Given the description of an element on the screen output the (x, y) to click on. 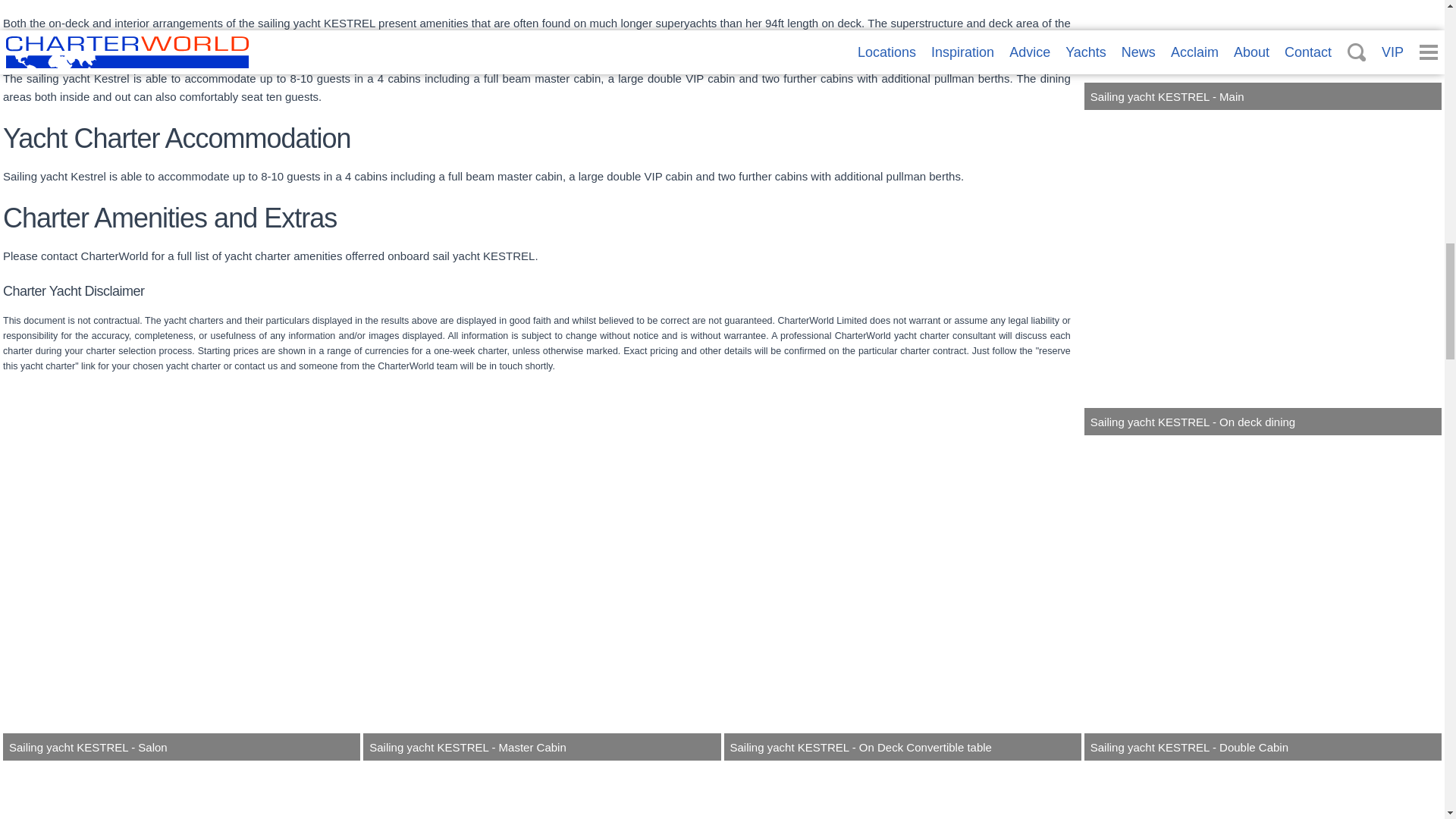
Sailing yacht KESTREL -  Sailing (541, 791)
Sailing yacht KESTREL -  Profile (901, 791)
Sailing yacht KESTREL -  Twin Cabin (180, 791)
Sailing yacht KESTREL -  Double Cabin (1262, 599)
Sailing yacht KESTREL -  Main (1262, 54)
Sailing yacht KESTREL -  Master Cabin (541, 599)
Sailing yacht KESTREL -  On deck dining (1262, 273)
Sailing yacht KESTREL -  Salon (180, 599)
The 32m Yacht KESTREL (1262, 791)
Sailing yacht KESTREL -  On Deck Convertible table (901, 599)
